Given the description of an element on the screen output the (x, y) to click on. 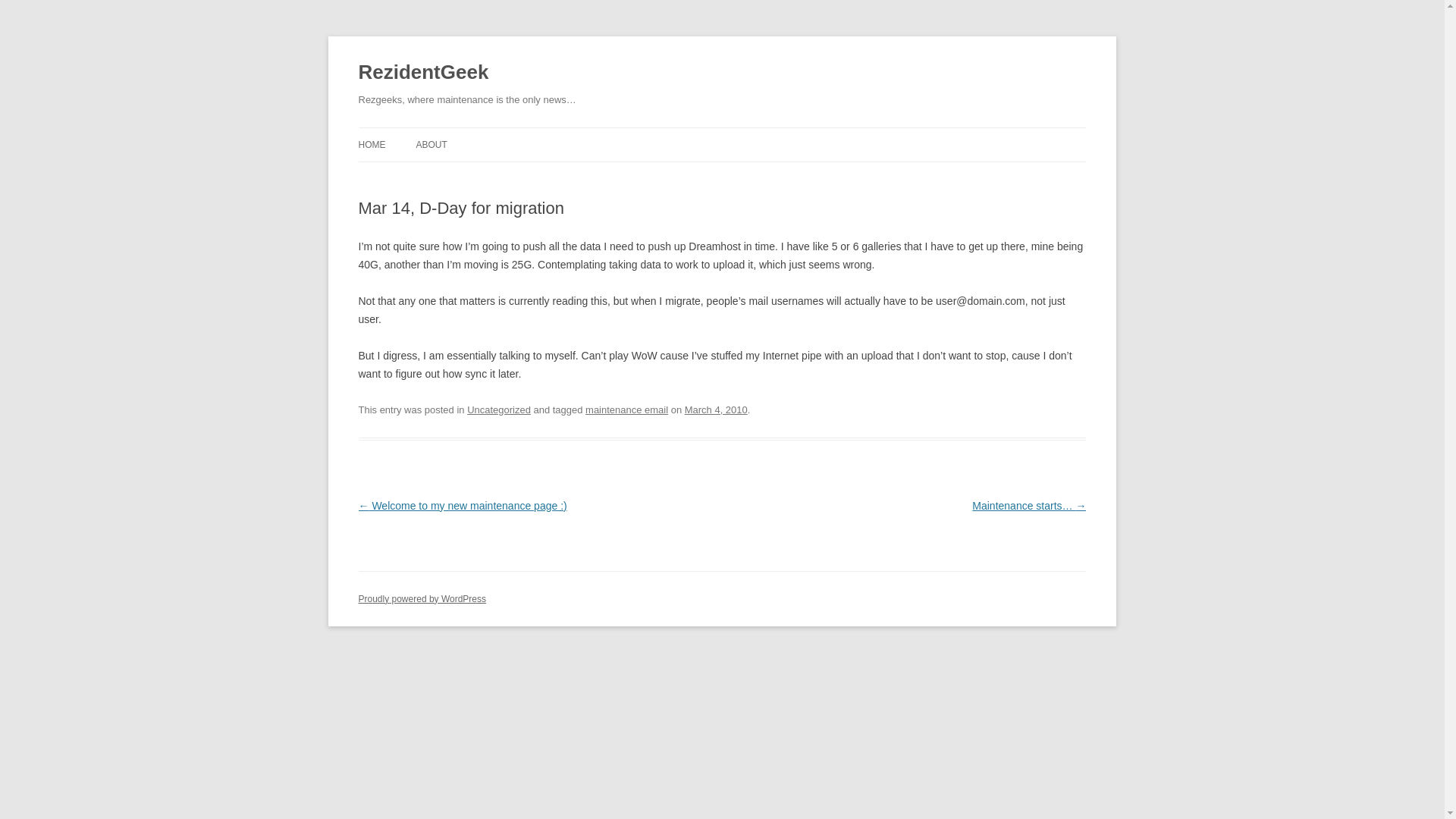
Uncategorized (499, 409)
ABOUT (430, 144)
maintenance email (626, 409)
5:40 am (716, 409)
March 4, 2010 (716, 409)
RezidentGeek (422, 72)
